Given the description of an element on the screen output the (x, y) to click on. 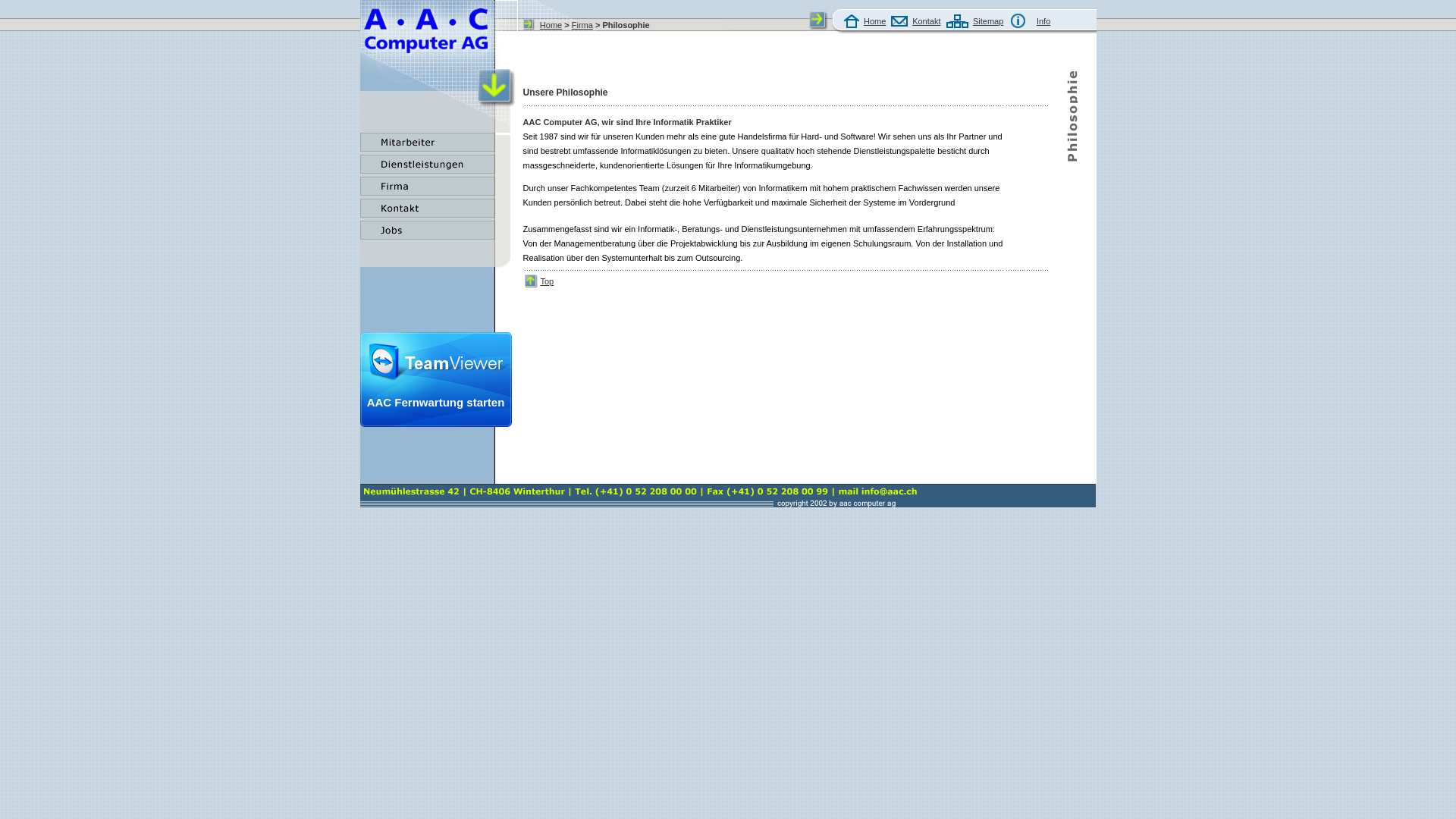
Firma Element type: text (582, 23)
Info Element type: text (1043, 20)
Home Element type: text (874, 20)
Home Element type: text (550, 23)
Kontakt Element type: text (926, 20)
AAC Fernwartung starten Element type: text (435, 423)
Sitemap Element type: text (987, 20)
Top Element type: text (546, 280)
